Given the description of an element on the screen output the (x, y) to click on. 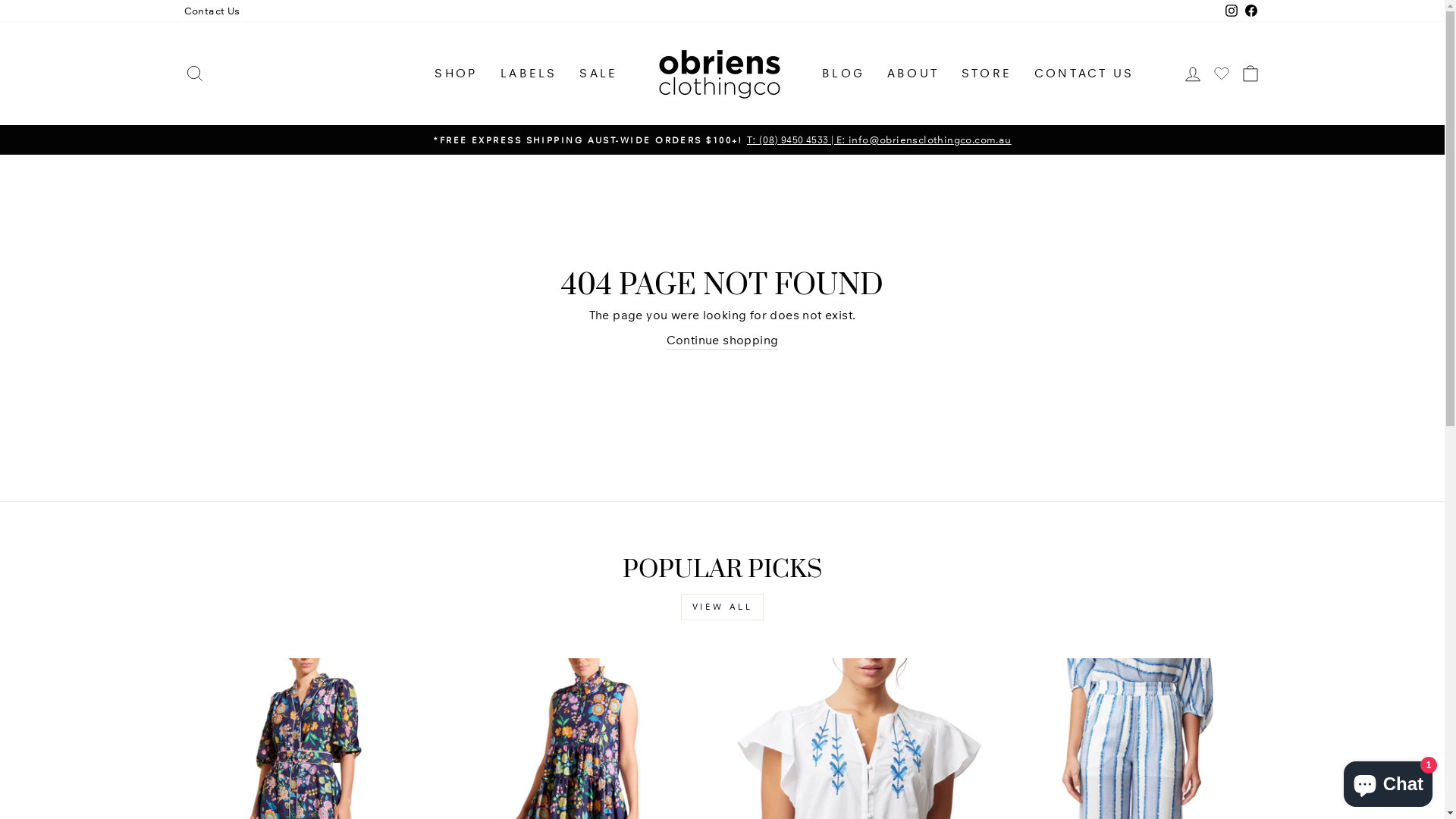
SHOP Element type: text (456, 73)
VIEW ALL Element type: text (722, 606)
CONTACT US Element type: text (1083, 73)
LOG IN Element type: text (1191, 73)
SEARCH Element type: text (193, 73)
Contact Us Element type: text (211, 10)
Continue shopping Element type: text (722, 340)
Shopify online store chat Element type: hover (1388, 780)
Facebook Element type: text (1250, 10)
ABOUT Element type: text (912, 73)
BLOG Element type: text (842, 73)
STORE Element type: text (986, 73)
CART Element type: text (1249, 73)
SALE Element type: text (597, 73)
Instagram Element type: text (1230, 10)
LABELS Element type: text (528, 73)
